Given the description of an element on the screen output the (x, y) to click on. 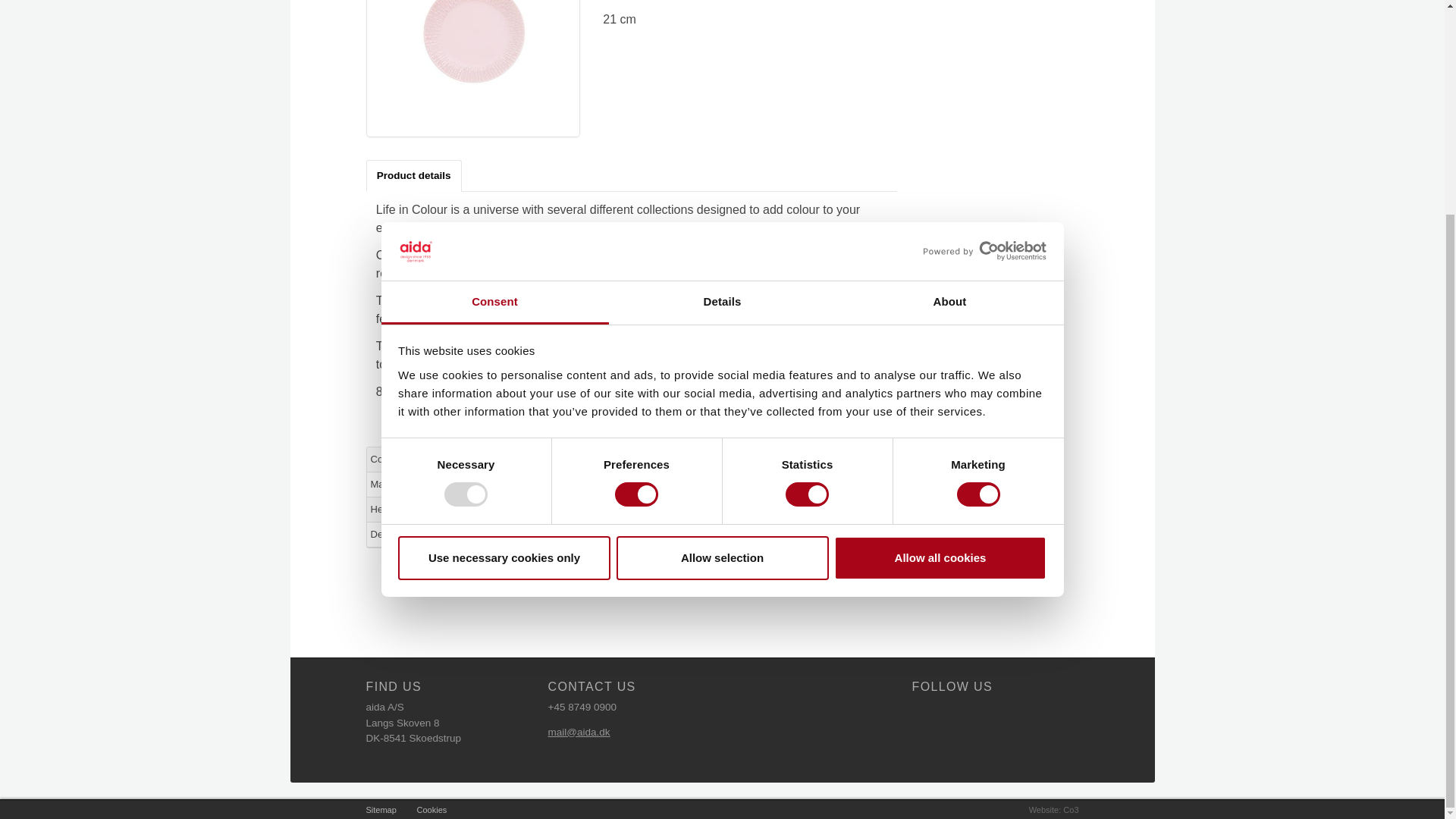
Details (721, 22)
Use necessary cookies only (503, 277)
Consent (494, 22)
About (948, 22)
Allow all cookies (940, 277)
Allow selection (721, 277)
